Given the description of an element on the screen output the (x, y) to click on. 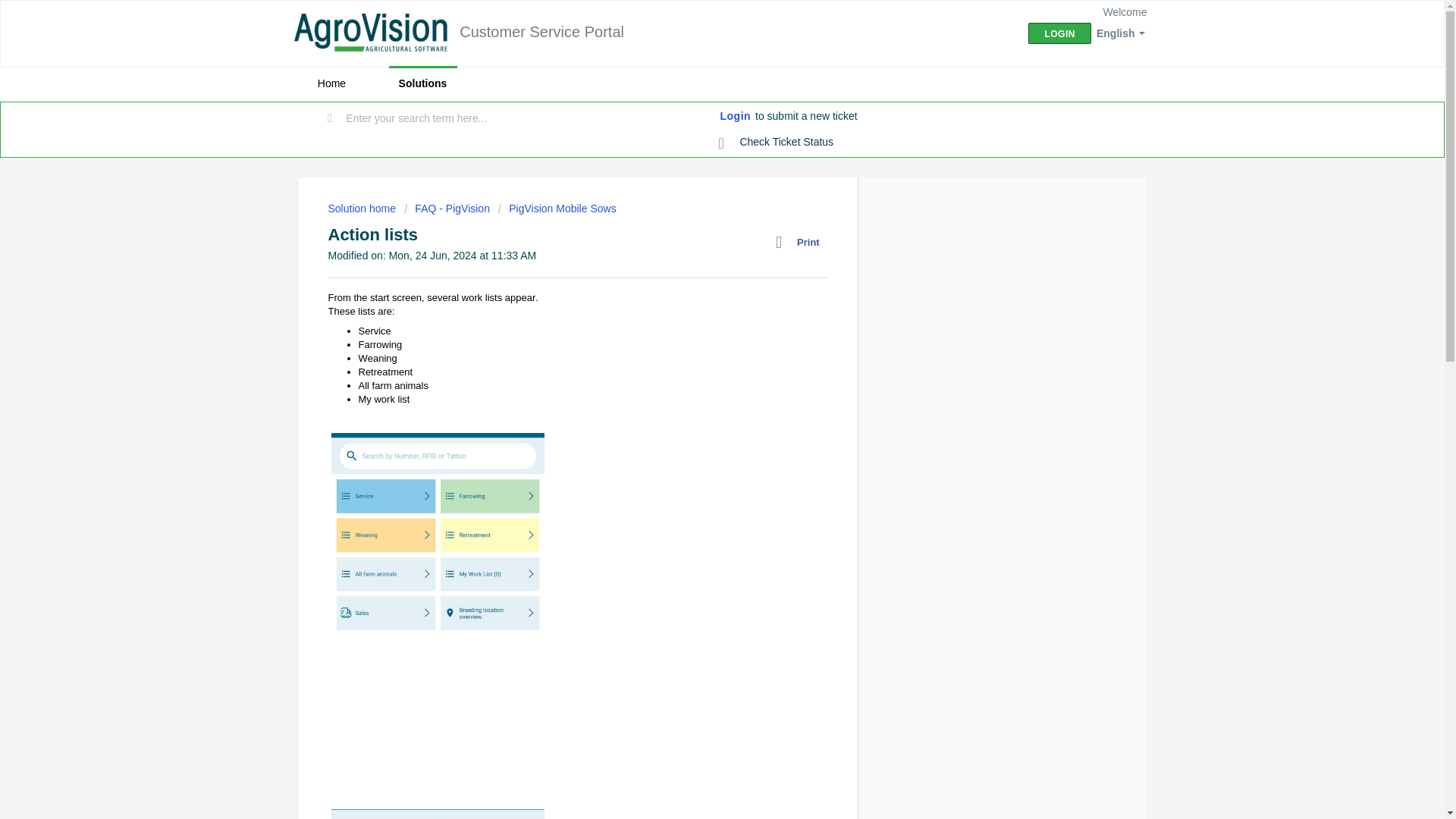
Login (735, 116)
Print this Article (801, 242)
Print (801, 242)
Solutions (422, 83)
LOGIN (1058, 33)
Home (331, 83)
FAQ - PigVision (446, 208)
Check Ticket Status (776, 142)
PigVision Mobile Sows (556, 208)
Check ticket status (776, 142)
Solution home (362, 208)
